Given the description of an element on the screen output the (x, y) to click on. 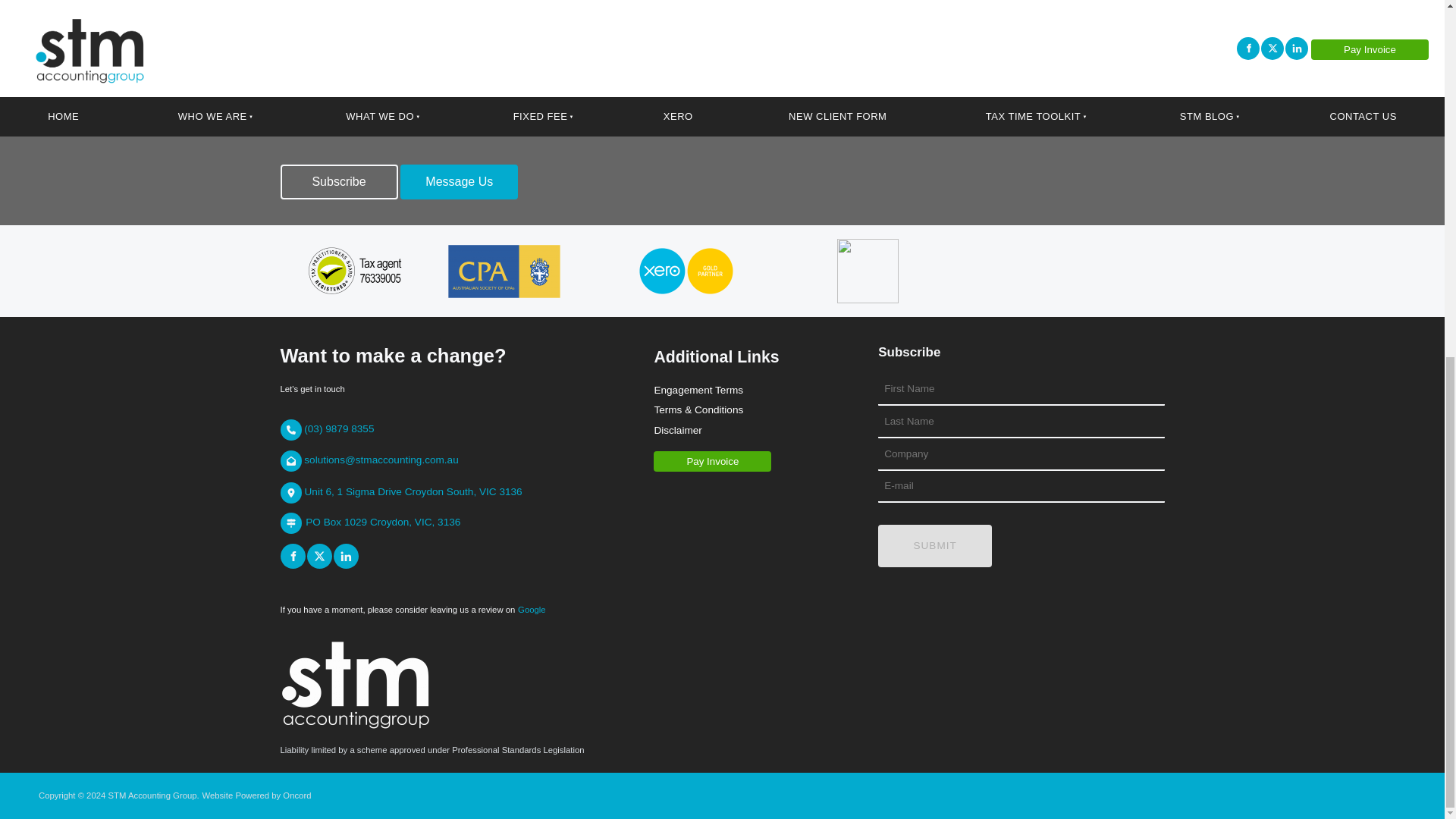
Message Us (459, 181)
Google (532, 609)
Subscribe (339, 181)
Facebook (293, 555)
LinkedIn (345, 555)
